Given the description of an element on the screen output the (x, y) to click on. 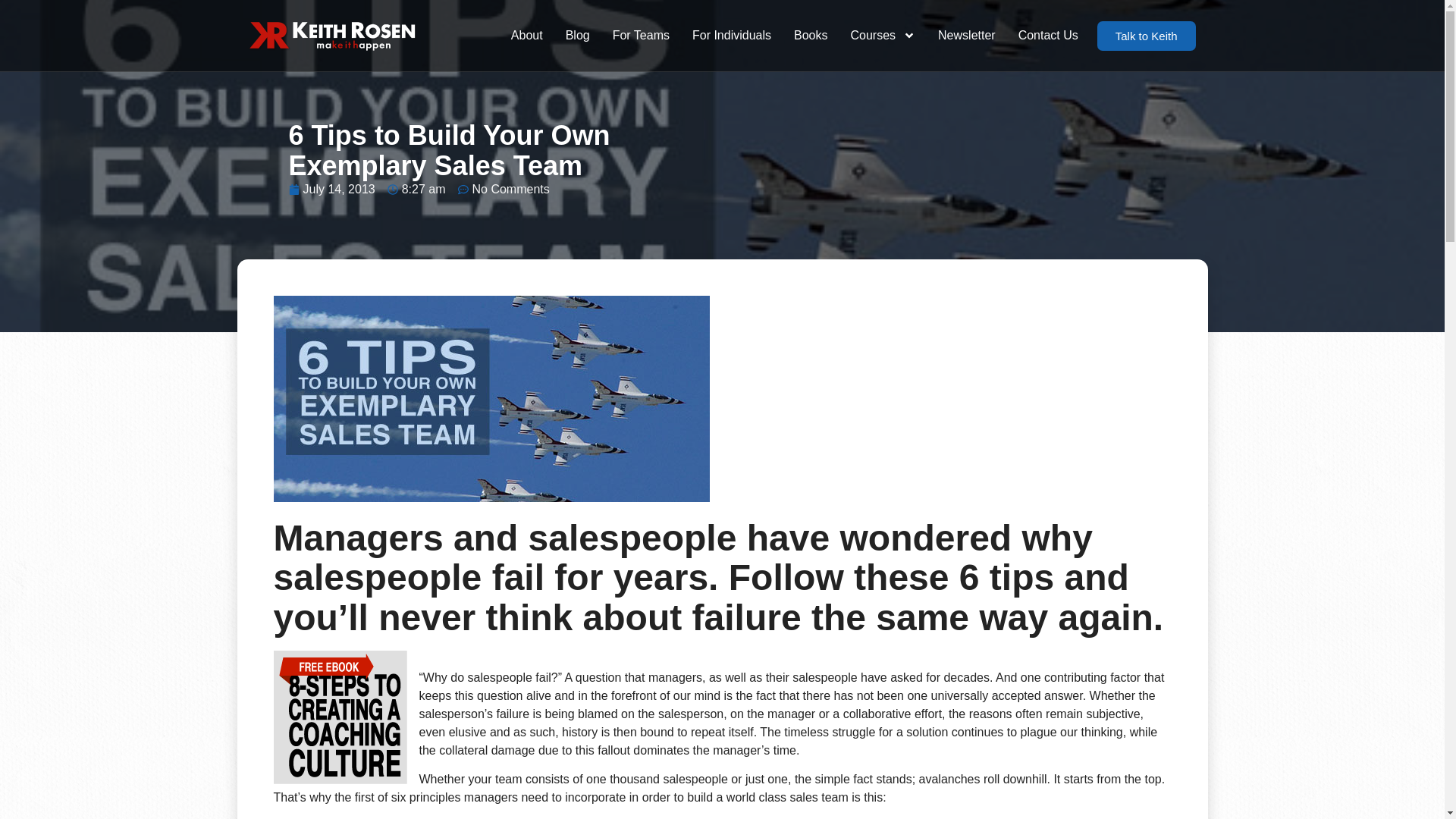
Talk to Keith (1146, 35)
Blog (577, 35)
For Individuals (732, 35)
Newsletter (966, 35)
About (526, 35)
Contact Us (1048, 35)
For Teams (641, 35)
Courses (882, 35)
Books (810, 35)
